Given the description of an element on the screen output the (x, y) to click on. 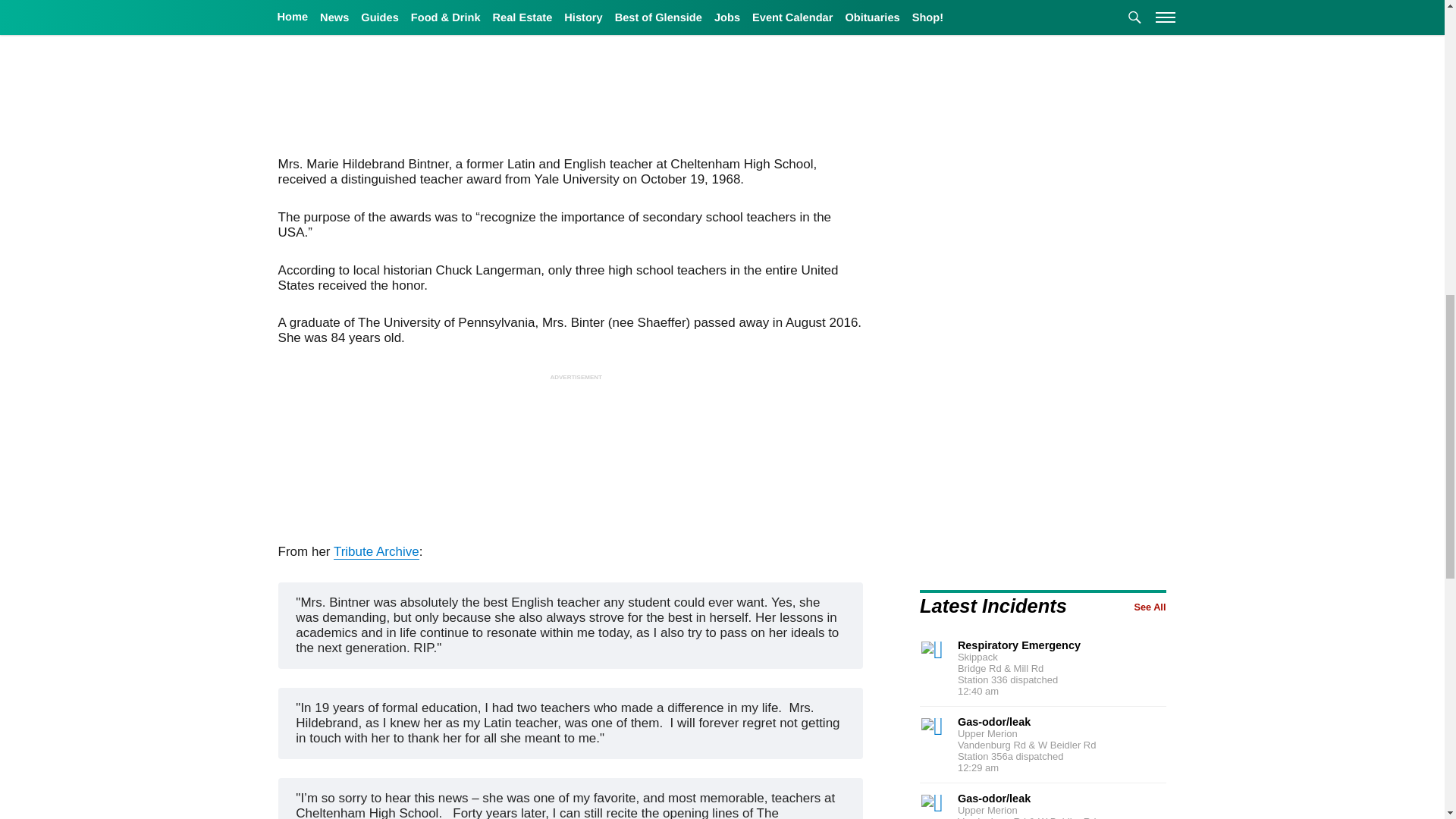
Advertisement (1046, 53)
Advertisement (1046, 405)
Advertisement (1046, 208)
Advertisement (573, 75)
Advertisement (573, 457)
